Given the description of an element on the screen output the (x, y) to click on. 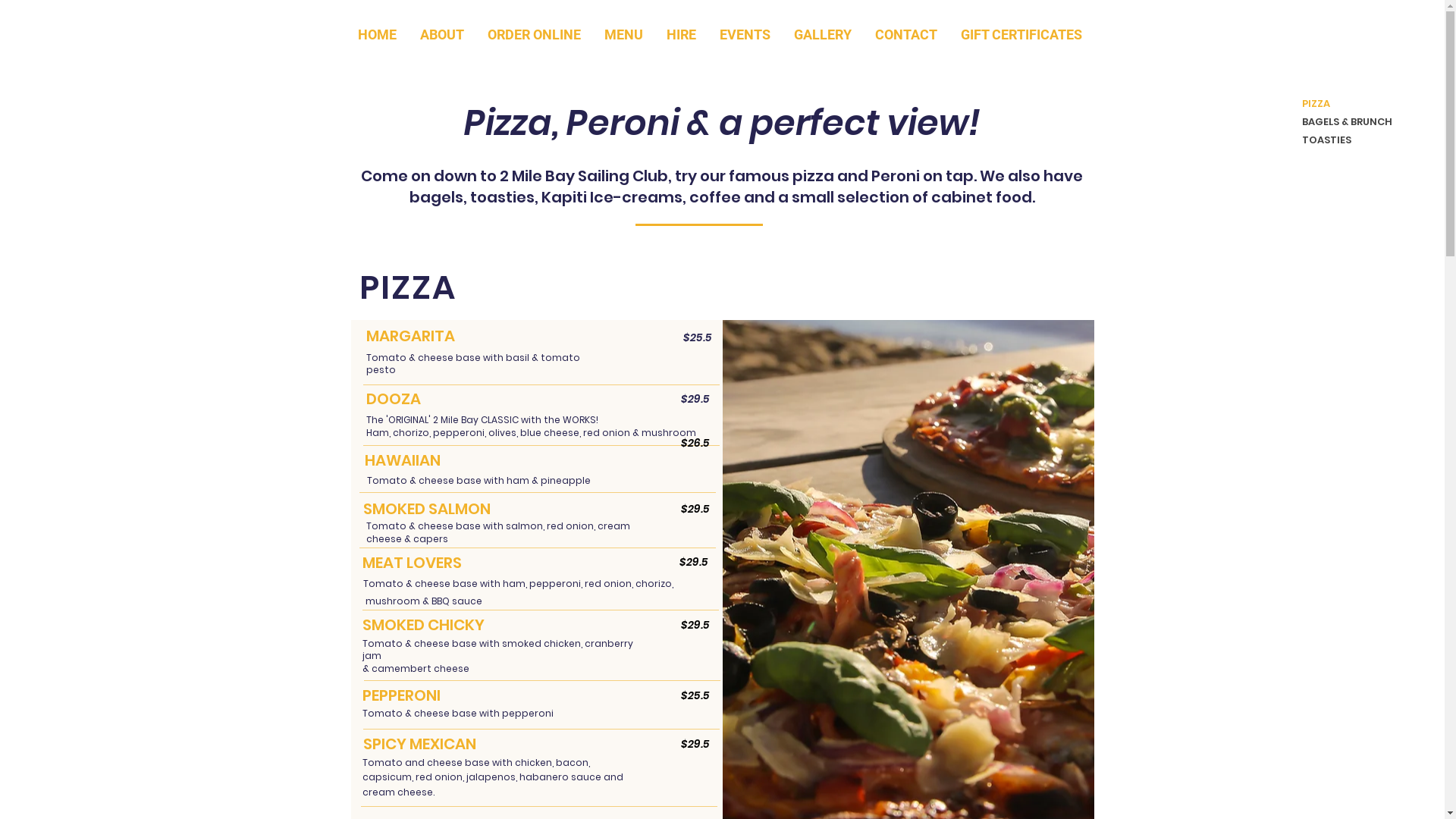
CONTACT Element type: text (905, 34)
GIFT CERTIFICATES Element type: text (1021, 34)
HOME Element type: text (376, 34)
ORDER ONLINE Element type: text (534, 34)
EVENTS Element type: text (745, 34)
BAGELS & BRUNCH Element type: text (1340, 121)
TOASTIES Element type: text (1340, 140)
ABOUT Element type: text (441, 34)
O R D E R Element type: text (1049, 777)
HIRE Element type: text (681, 34)
PIZZA Element type: text (1340, 103)
GALLERY Element type: text (822, 34)
MENU Element type: text (624, 34)
